Given the description of an element on the screen output the (x, y) to click on. 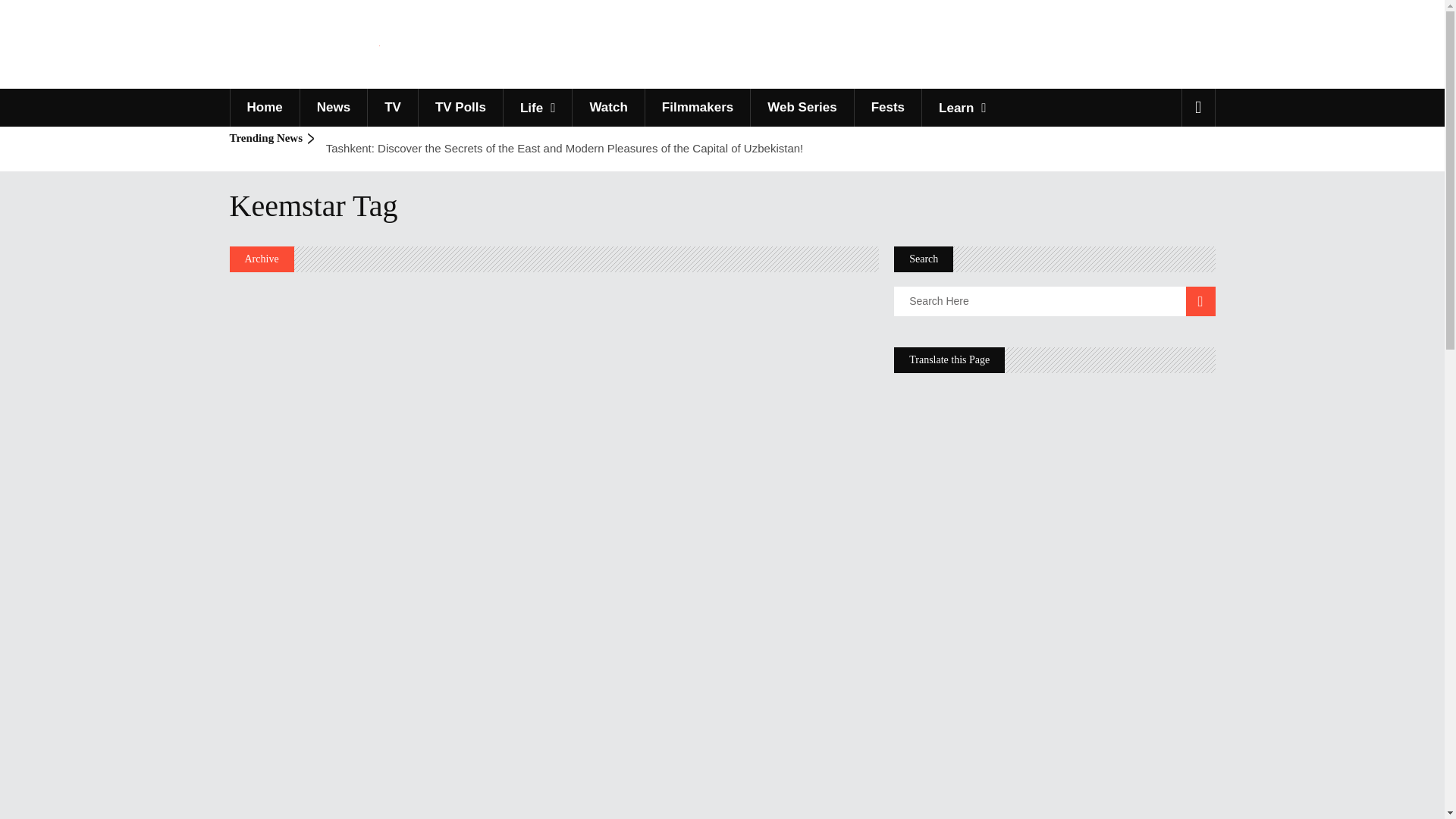
Learn (962, 107)
Filmmakers (698, 107)
News (332, 107)
Life (537, 107)
Home (263, 107)
TV Polls (459, 107)
Web Series (801, 107)
Fests (887, 107)
Watch (607, 107)
TV (391, 107)
